Given the description of an element on the screen output the (x, y) to click on. 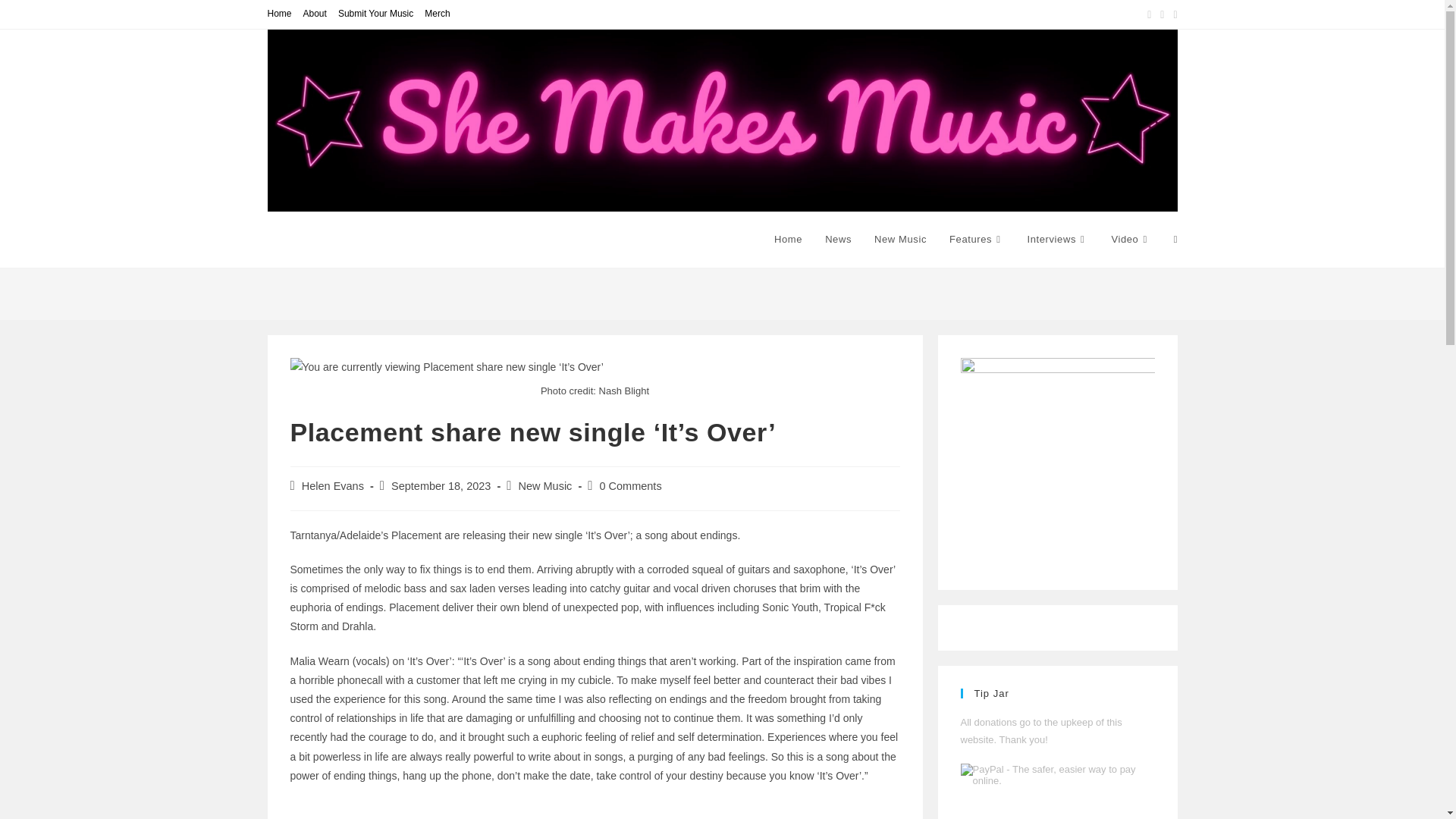
New Music (900, 239)
Merch (437, 13)
Video (1130, 239)
Home (278, 13)
Features (975, 239)
About (314, 13)
Posts by Helen Evans (332, 485)
Submit Your Music (375, 13)
Home (787, 239)
Interviews (1056, 239)
